Given the description of an element on the screen output the (x, y) to click on. 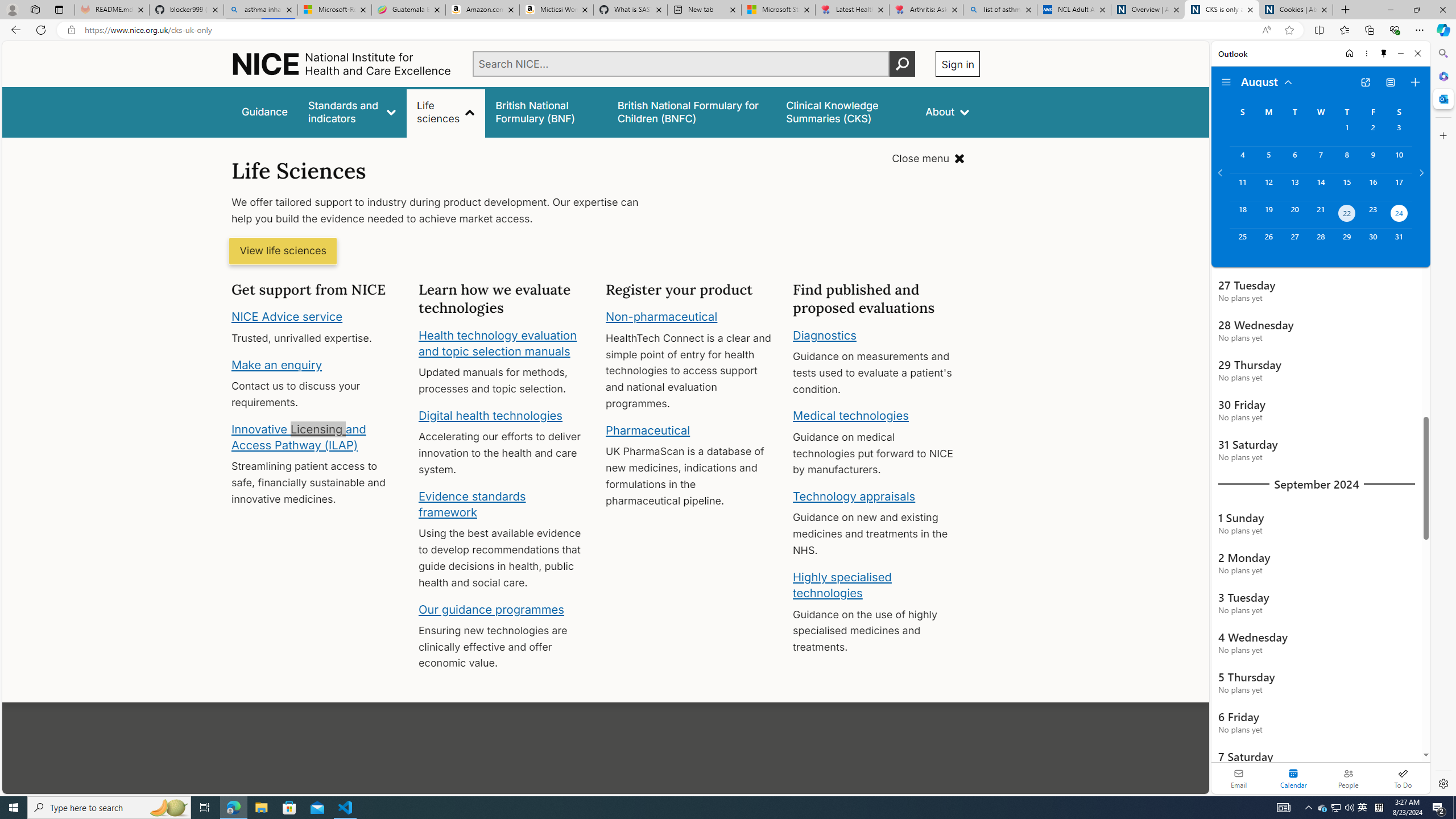
Sunday, August 4, 2024.  (1242, 159)
Monday, August 19, 2024.  (1268, 214)
Monday, August 12, 2024.  (1268, 186)
Make an enquiry (276, 364)
Thursday, August 22, 2024. Today.  (1346, 214)
Tuesday, August 6, 2024.  (1294, 159)
Technology appraisals (854, 495)
Highly specialised technologies (842, 584)
